Given the description of an element on the screen output the (x, y) to click on. 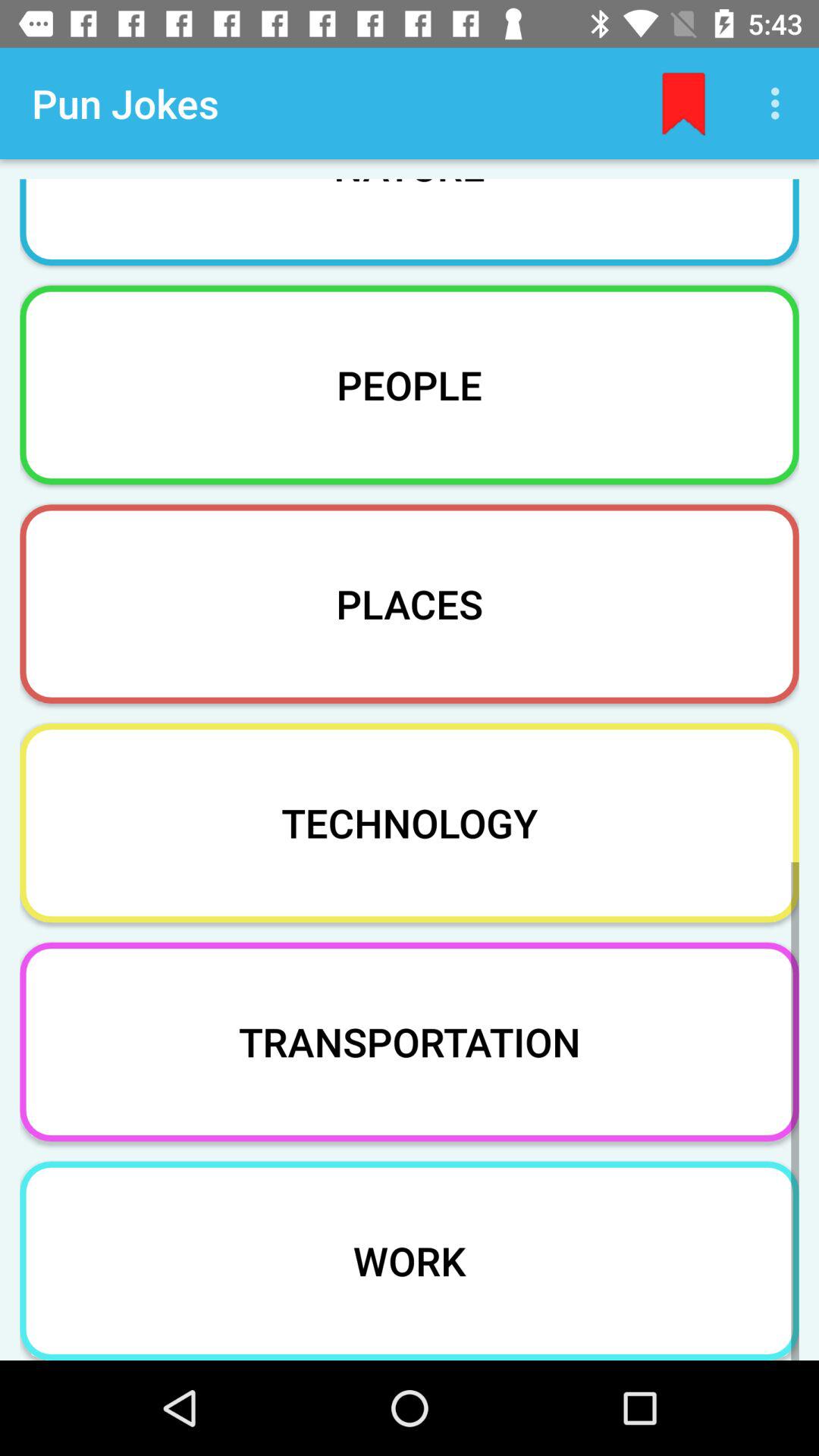
press icon above the nature item (683, 103)
